Given the description of an element on the screen output the (x, y) to click on. 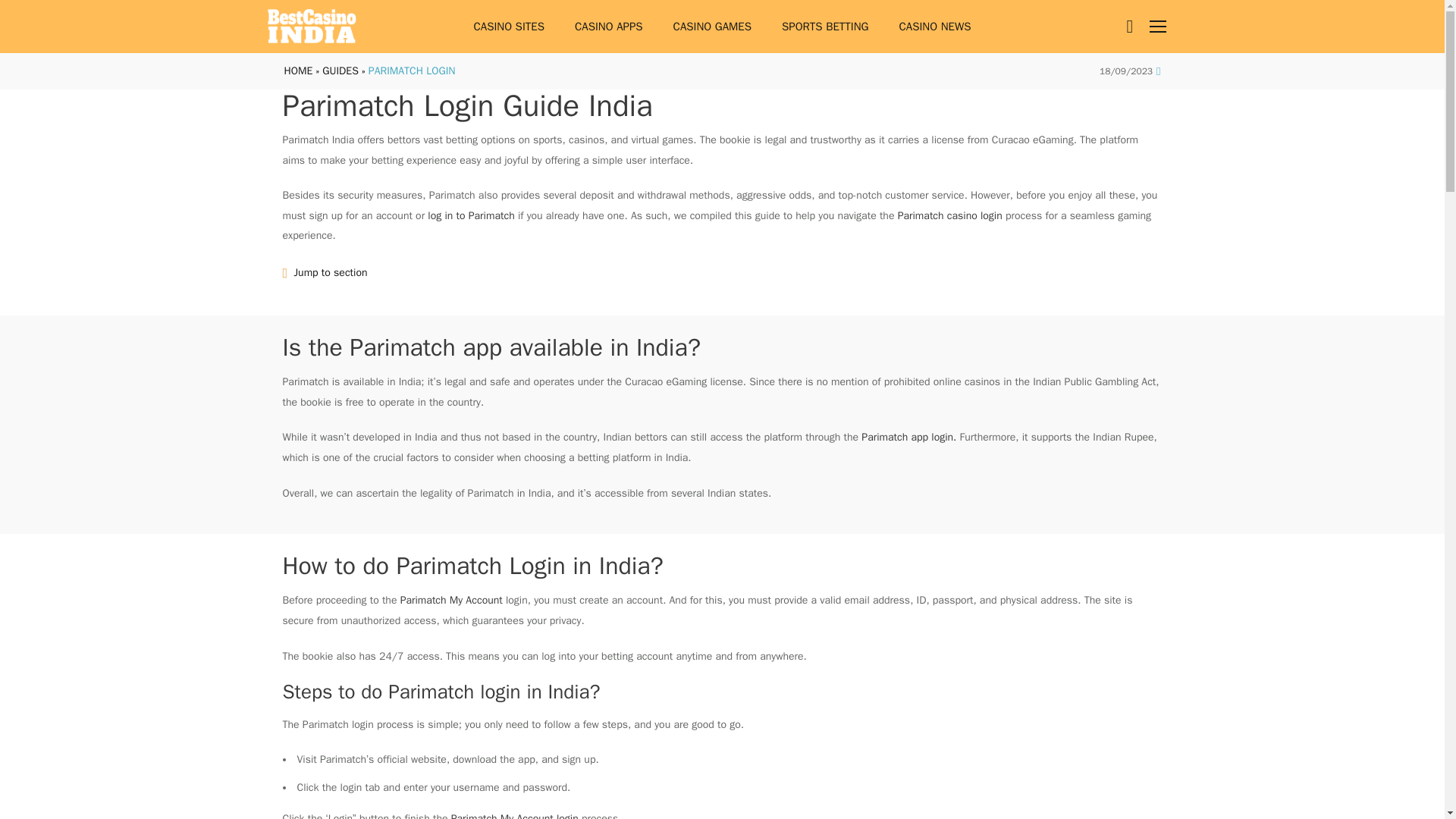
CASINO NEWS (935, 26)
SPORTS BETTING (825, 26)
CASINO GAMES (712, 26)
CASINO SITES (508, 26)
CASINO APPS (608, 26)
